Given the description of an element on the screen output the (x, y) to click on. 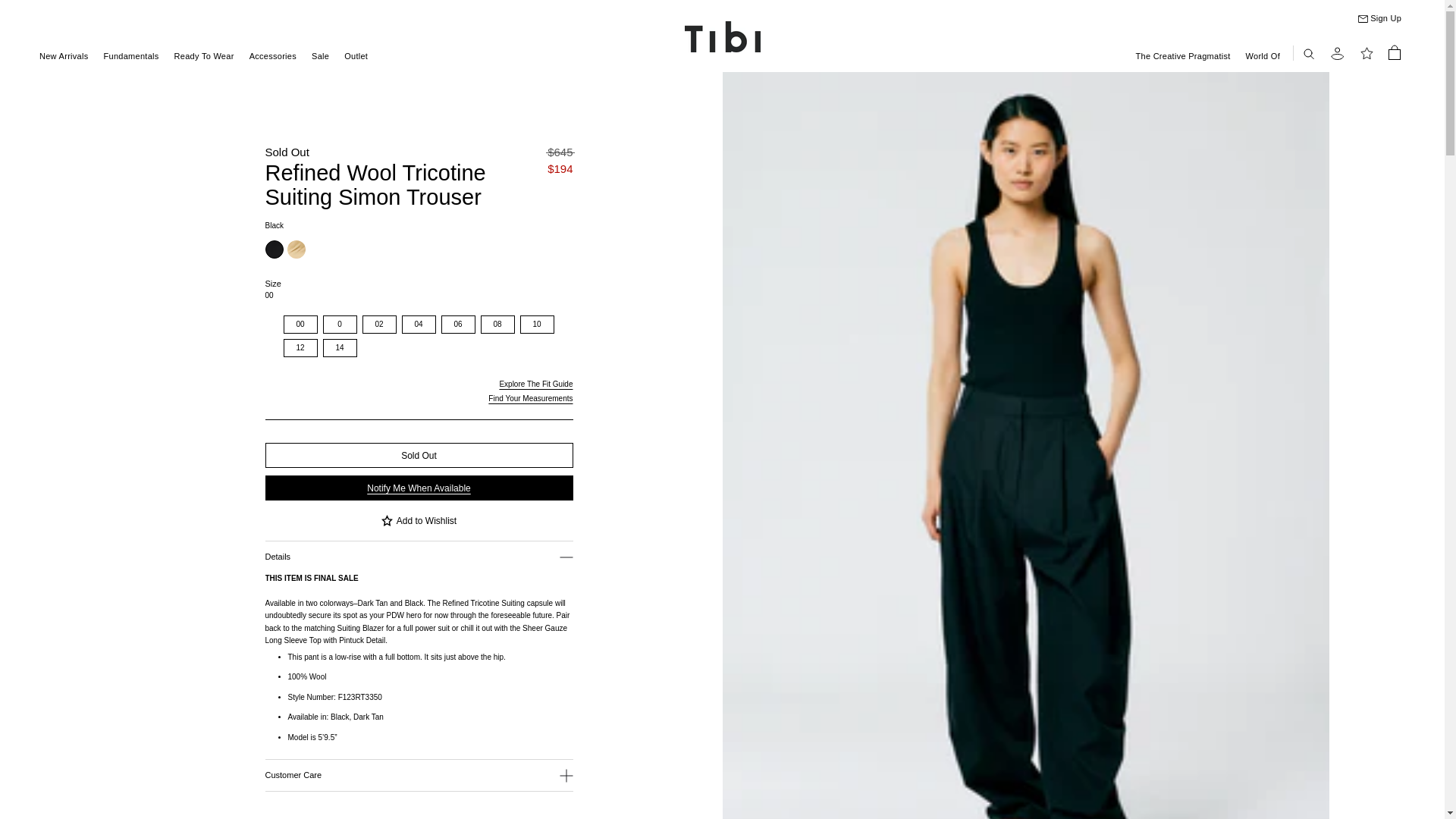
Opens in a new window (535, 384)
Opens in a new window (529, 397)
